Given the description of an element on the screen output the (x, y) to click on. 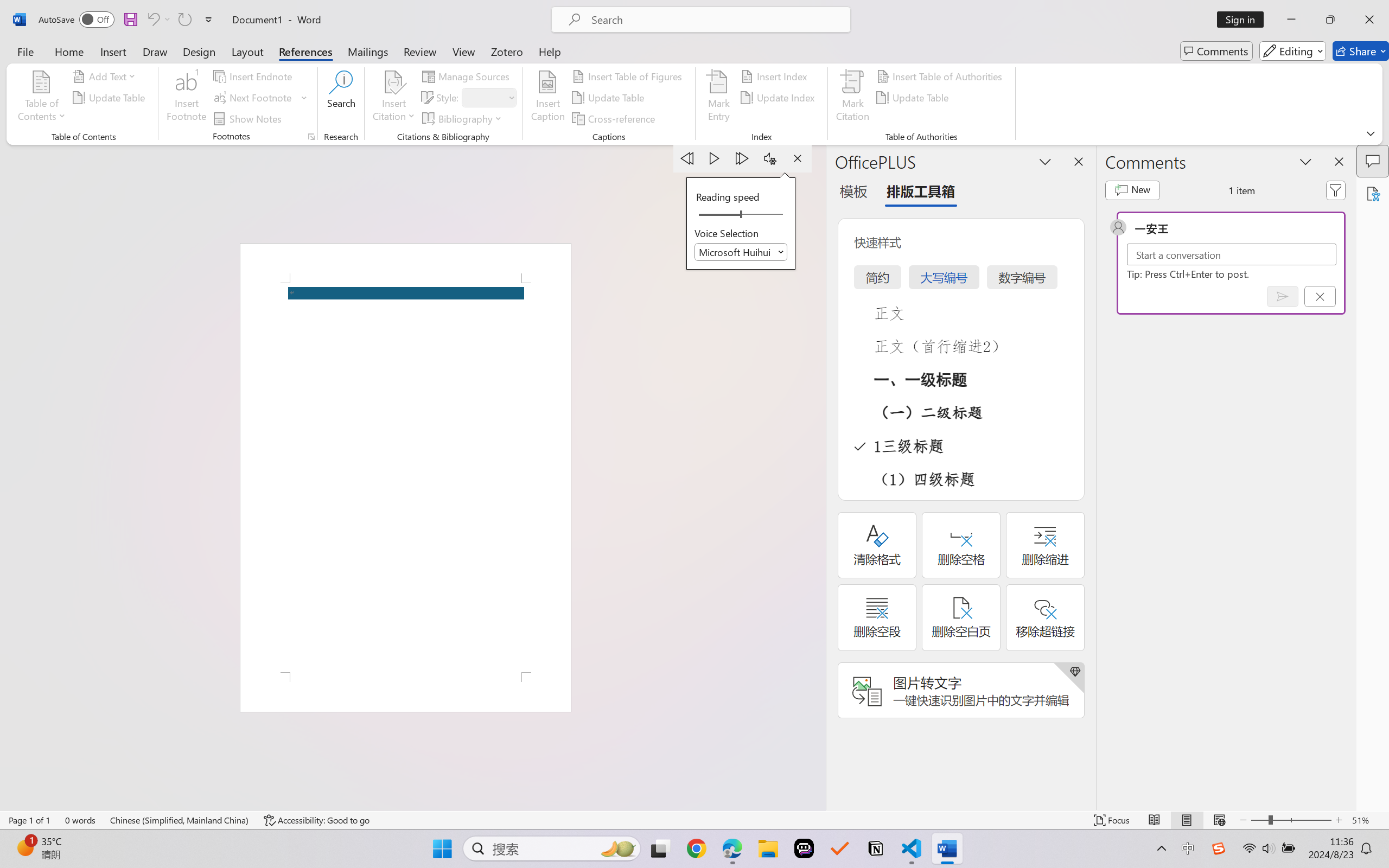
Voice Selection (740, 252)
Style (488, 97)
Filter (1335, 190)
Sign in (1244, 19)
Update Table (914, 97)
